Given the description of an element on the screen output the (x, y) to click on. 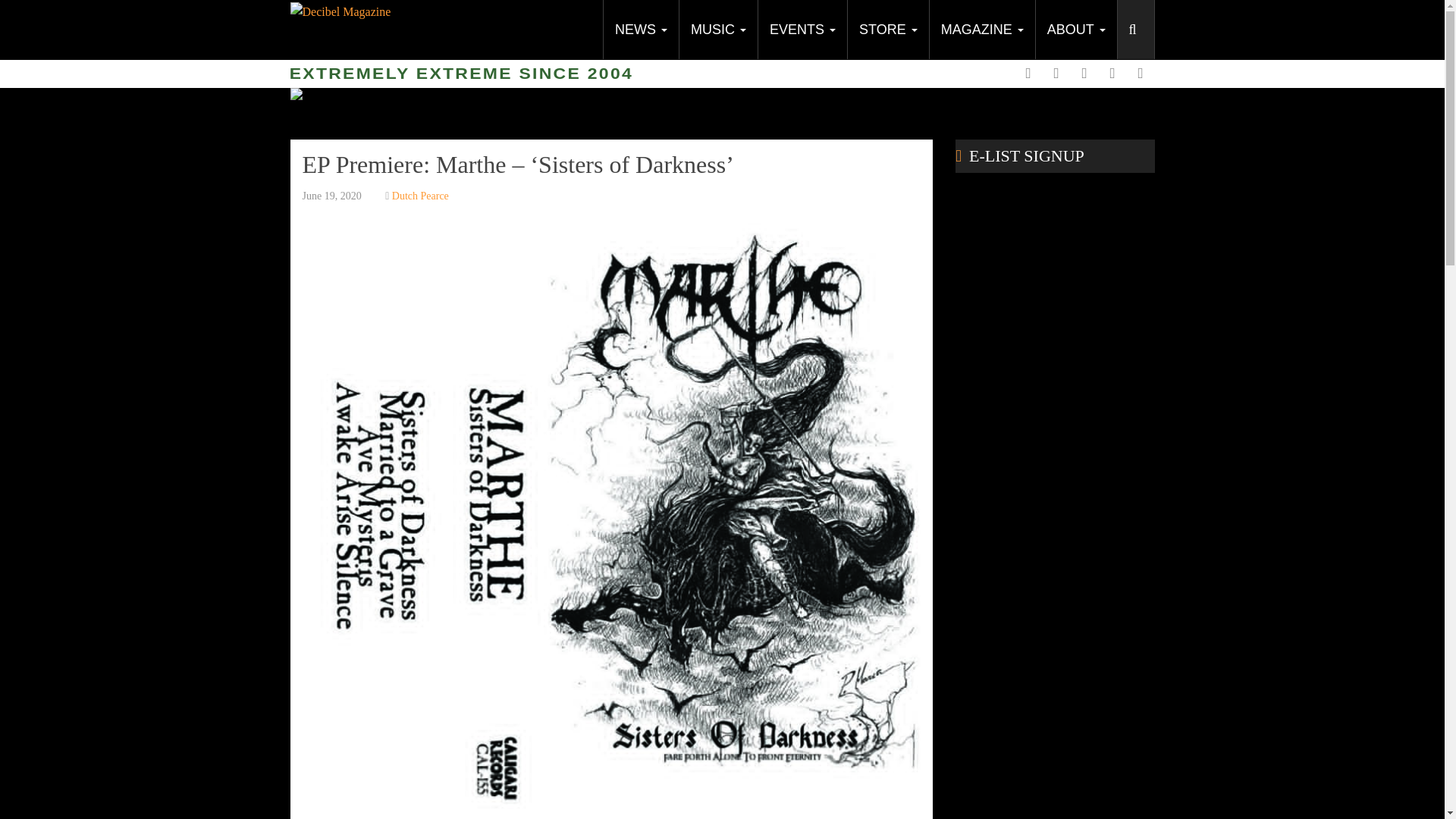
ABOUT (1075, 29)
YouTube (1083, 73)
Twitter (1056, 73)
EVENTS (802, 29)
STORE (887, 29)
Facebook (1027, 73)
News (640, 29)
Music (717, 29)
MAGAZINE (981, 29)
MUSIC (717, 29)
